Given the description of an element on the screen output the (x, y) to click on. 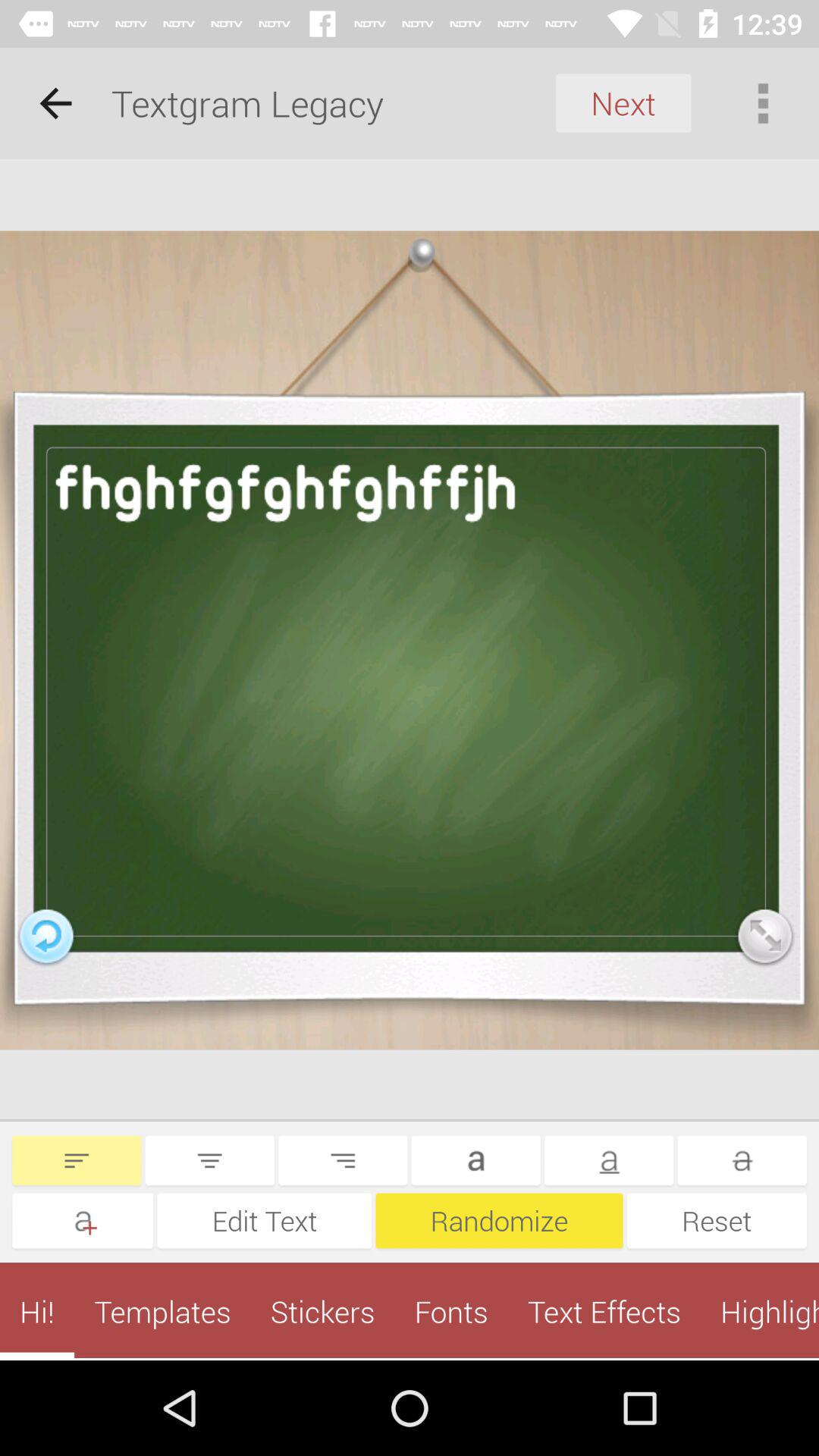
underline the letter (608, 1160)
